Given the description of an element on the screen output the (x, y) to click on. 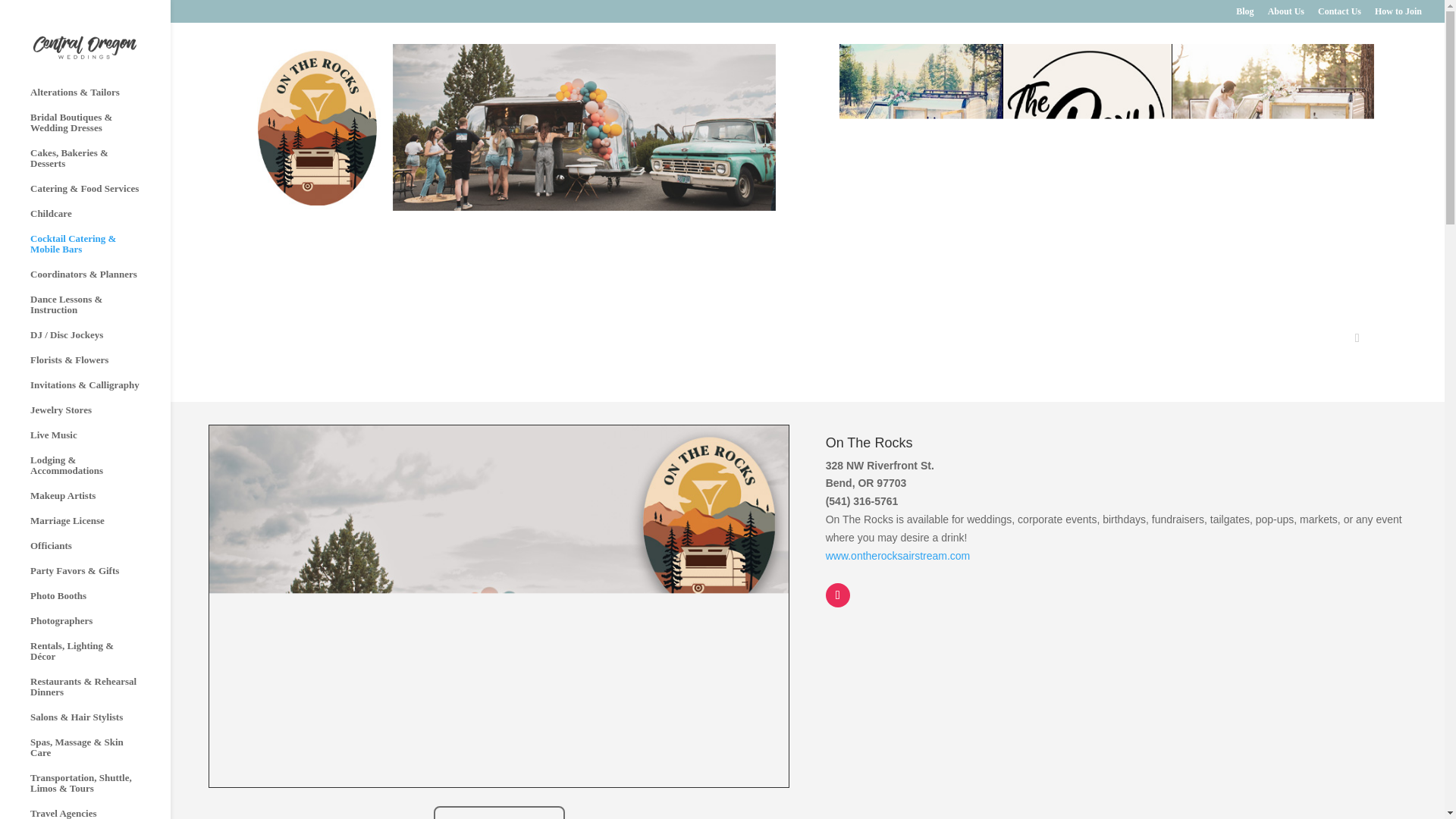
Blog (1244, 14)
About Us (1286, 14)
The Bevy PNW Banner (1106, 127)
Contact Us (1339, 14)
On The Rocks Banner (507, 127)
Childcare (100, 220)
Follow on Instagram (837, 595)
Officiants (100, 552)
How to Join (1398, 14)
